Given the description of an element on the screen output the (x, y) to click on. 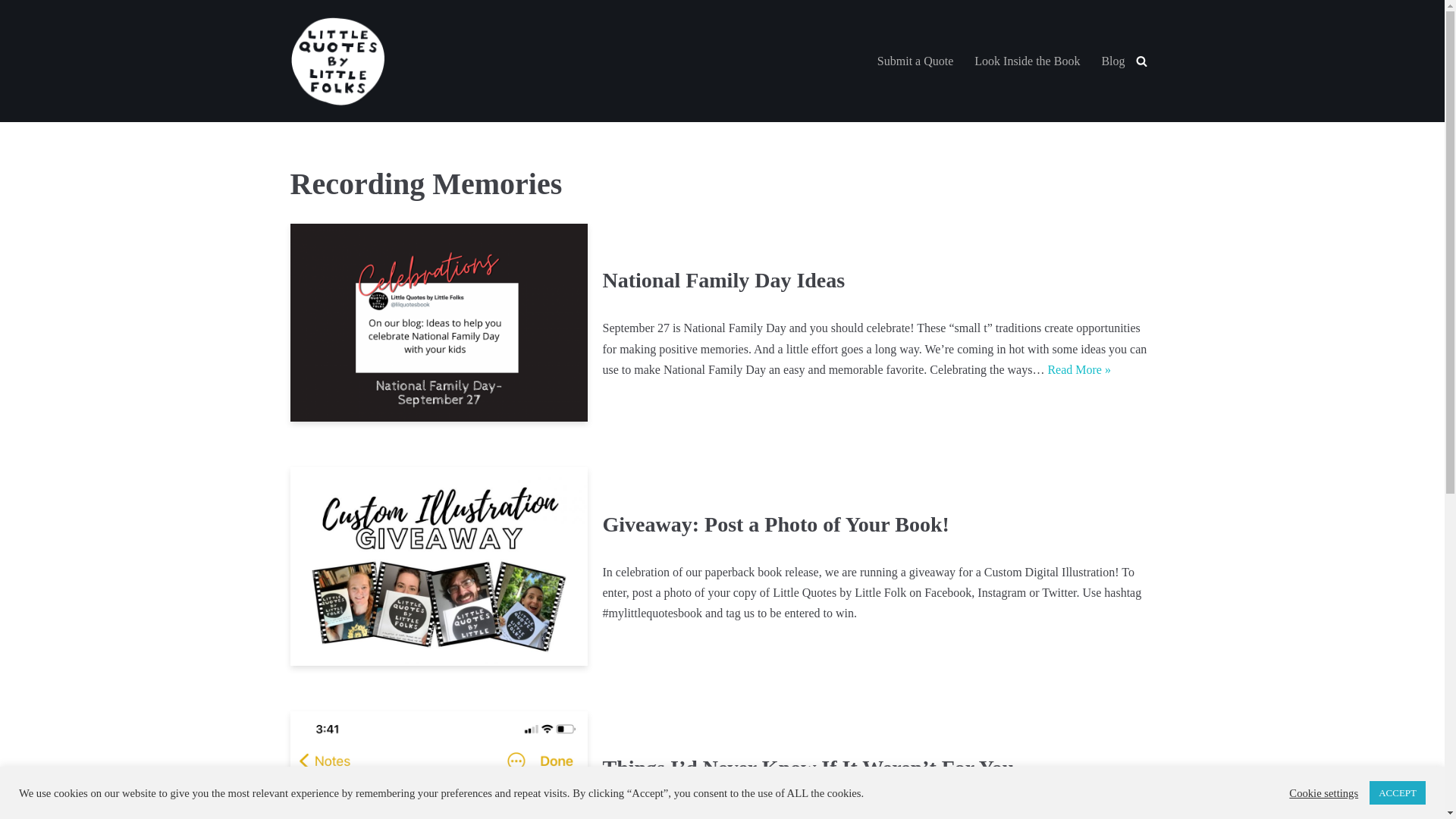
Submit a Quote (915, 60)
Blog (1112, 60)
Giveaway: Post a Photo of Your Book! (775, 524)
Skip to content (11, 31)
National Family Day Ideas (723, 279)
National Family Day Ideas (437, 322)
Giveaway: Post a Photo of Your Book! (437, 565)
Look Inside the Book (1027, 60)
